Given the description of an element on the screen output the (x, y) to click on. 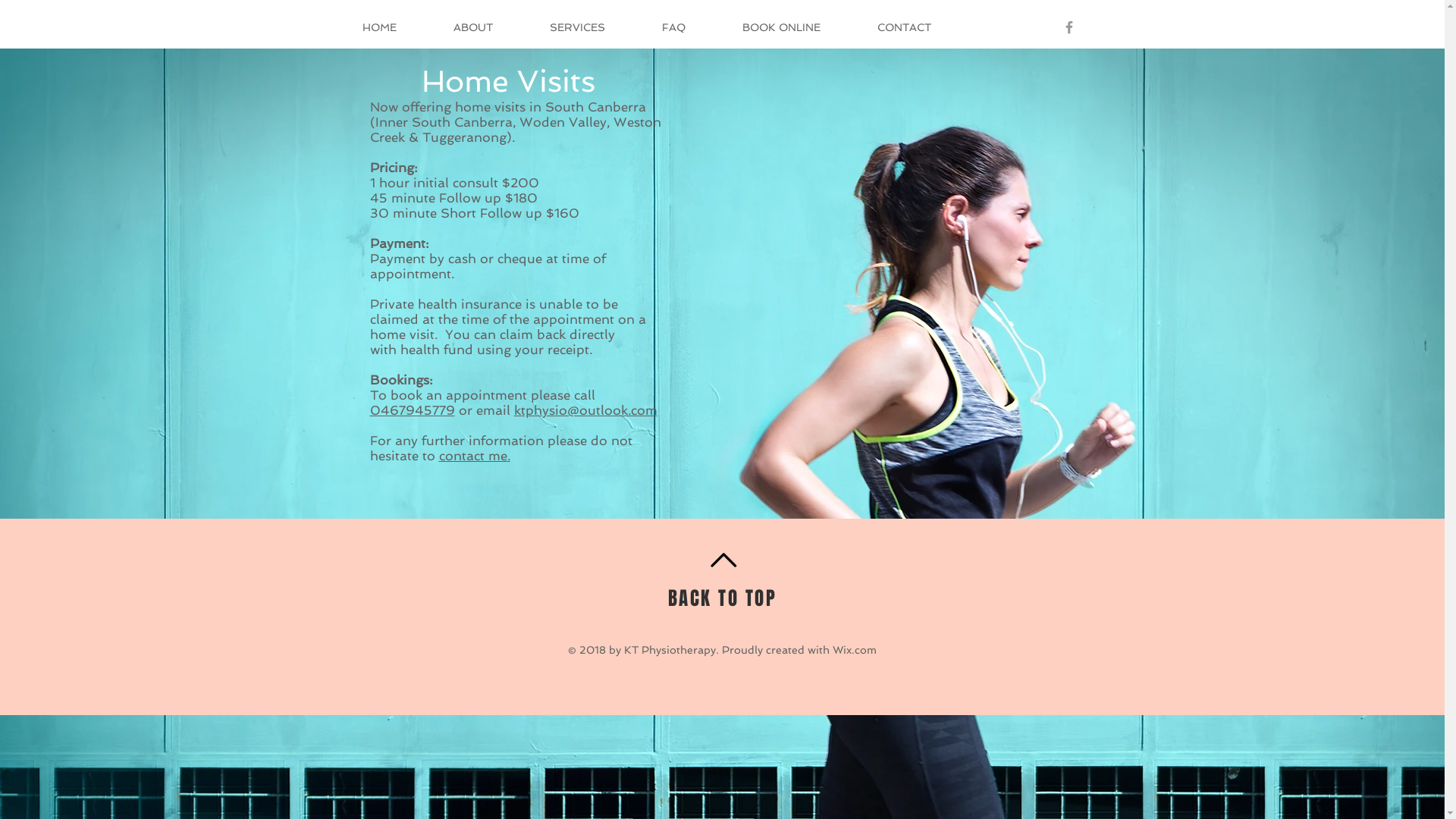
BOOK ONLINE Element type: text (798, 26)
Wix.com Element type: text (854, 649)
BACK TO TOP Element type: text (722, 597)
HOME Element type: text (395, 26)
0467945779 Element type: text (412, 409)
CONTACT Element type: text (920, 26)
contact me. Element type: text (473, 455)
ktphysio@outlook.com Element type: text (585, 409)
FAQ Element type: text (690, 26)
ABOUT Element type: text (489, 26)
SERVICES Element type: text (594, 26)
